Given the description of an element on the screen output the (x, y) to click on. 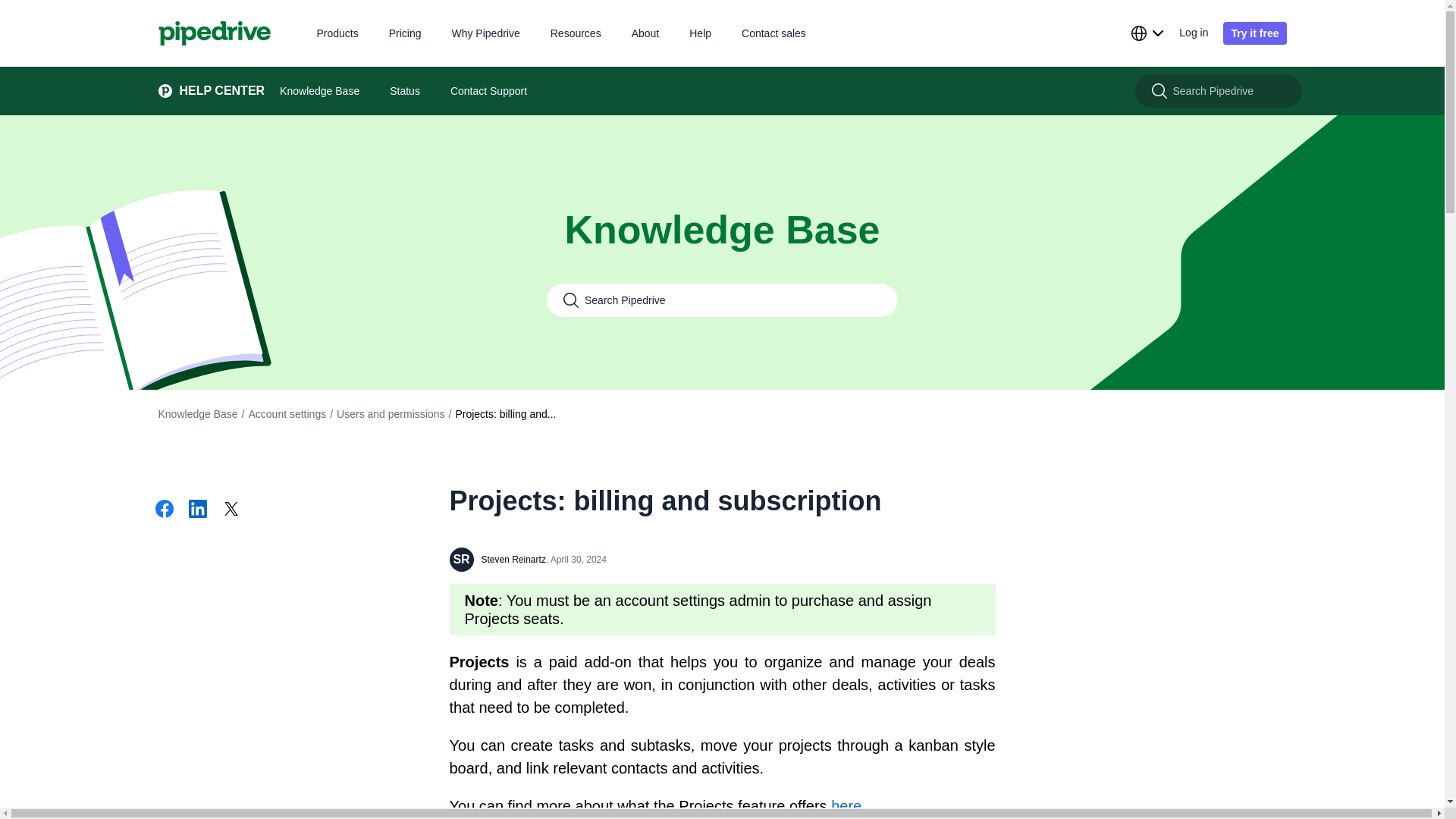
Resources (575, 32)
Account settings (286, 413)
Log in (1193, 33)
HELP CENTER (203, 90)
Pricing (405, 32)
Contact Support (488, 90)
Status (404, 90)
Knowledge Base (197, 413)
About (645, 32)
Products (336, 32)
